Given the description of an element on the screen output the (x, y) to click on. 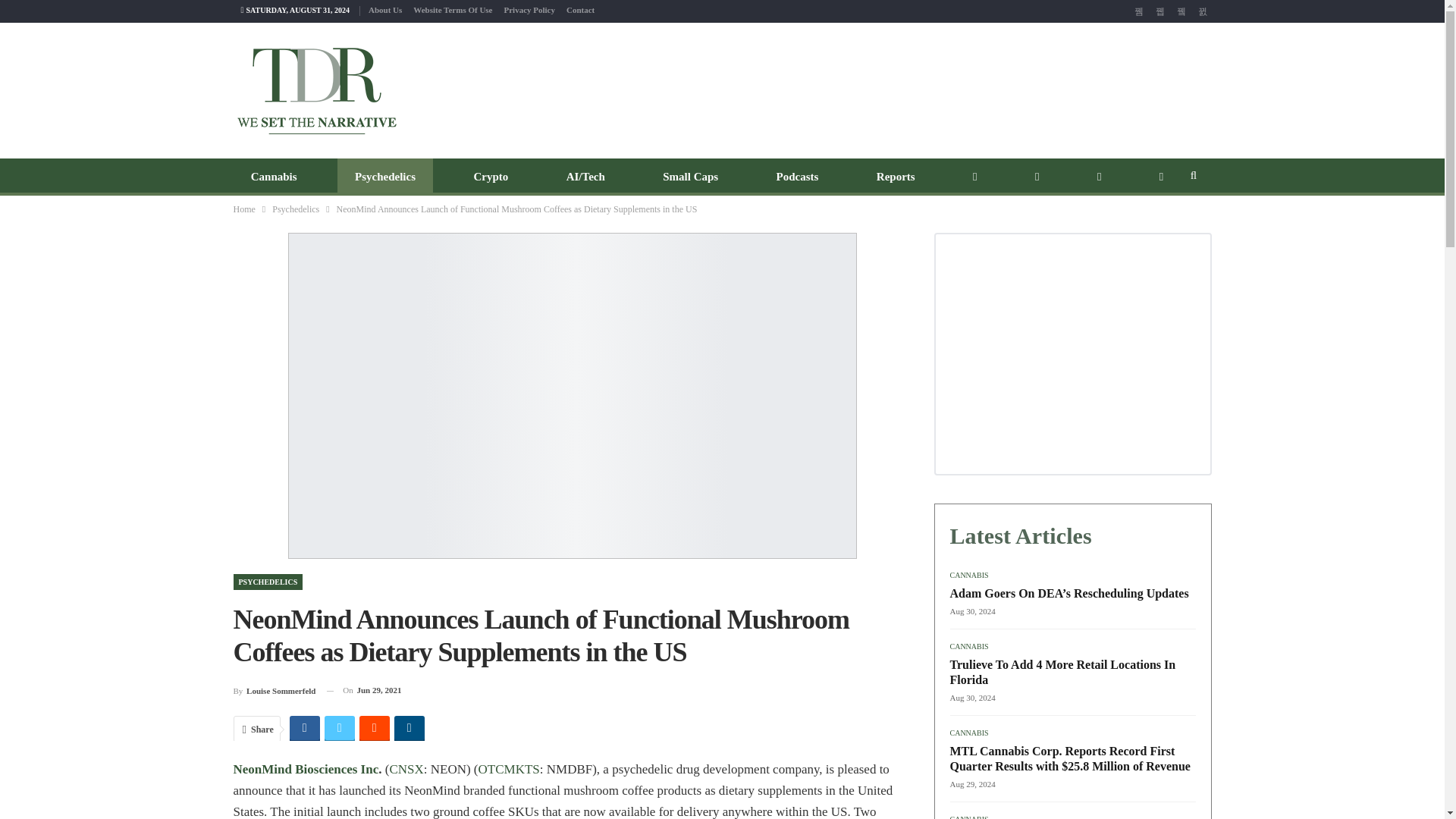
By Louise Sommerfeld (273, 690)
PSYCHEDELICS (267, 581)
NeonMind Biosciences Inc (305, 769)
Crypto (490, 176)
Reports (896, 176)
About Us (384, 9)
CNSX (405, 769)
Psychedelics (384, 176)
Home (244, 208)
Small Caps (690, 176)
